Given the description of an element on the screen output the (x, y) to click on. 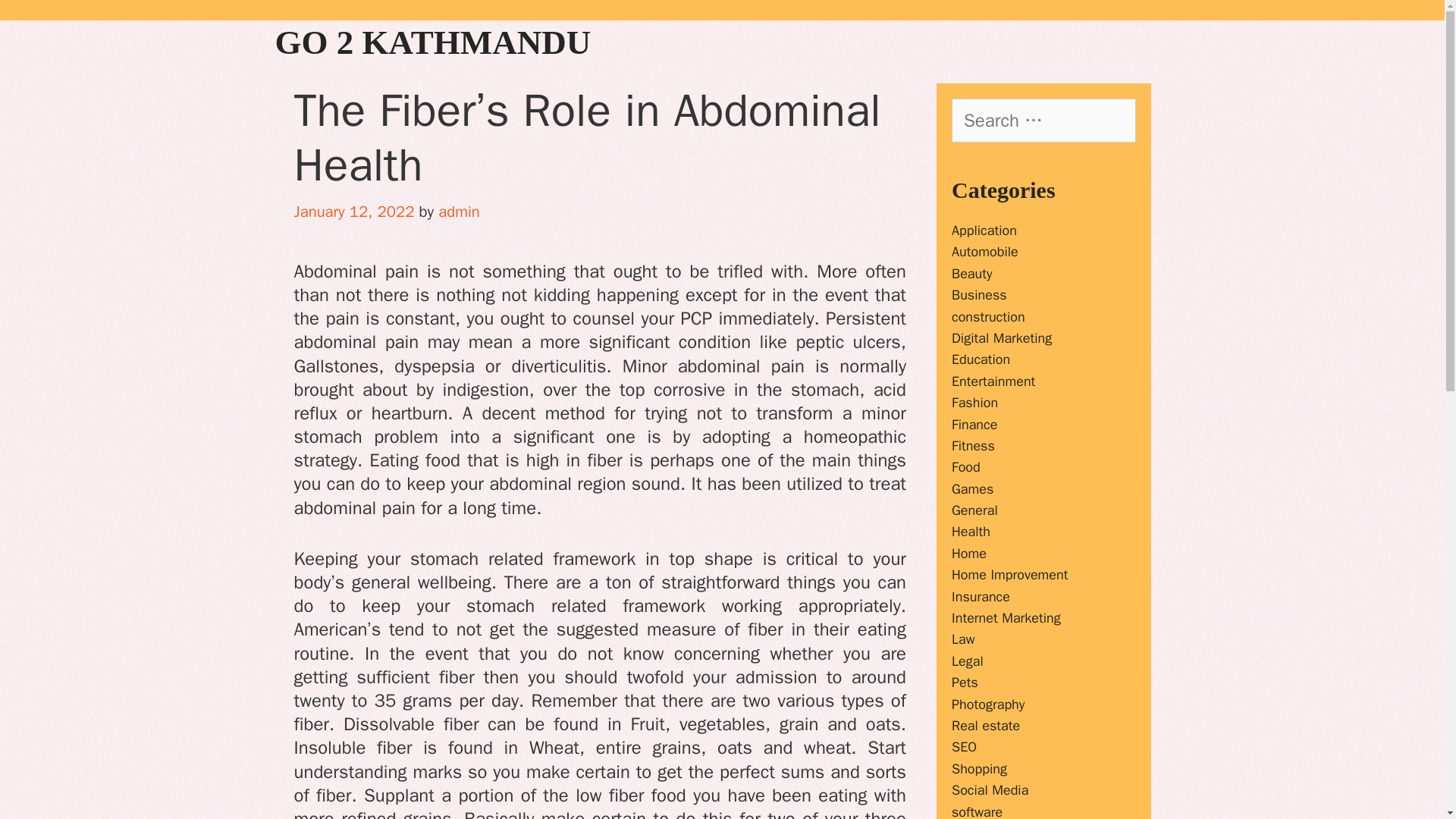
admin (459, 211)
Insurance (981, 596)
Photography (988, 704)
Home (969, 553)
Search for: (1043, 120)
construction (988, 316)
Home Improvement (1010, 574)
11:37 am (354, 211)
software (977, 811)
Automobile (984, 251)
Games (972, 488)
View all posts by admin (459, 211)
Beauty (972, 273)
Health (971, 531)
Real estate (986, 725)
